Given the description of an element on the screen output the (x, y) to click on. 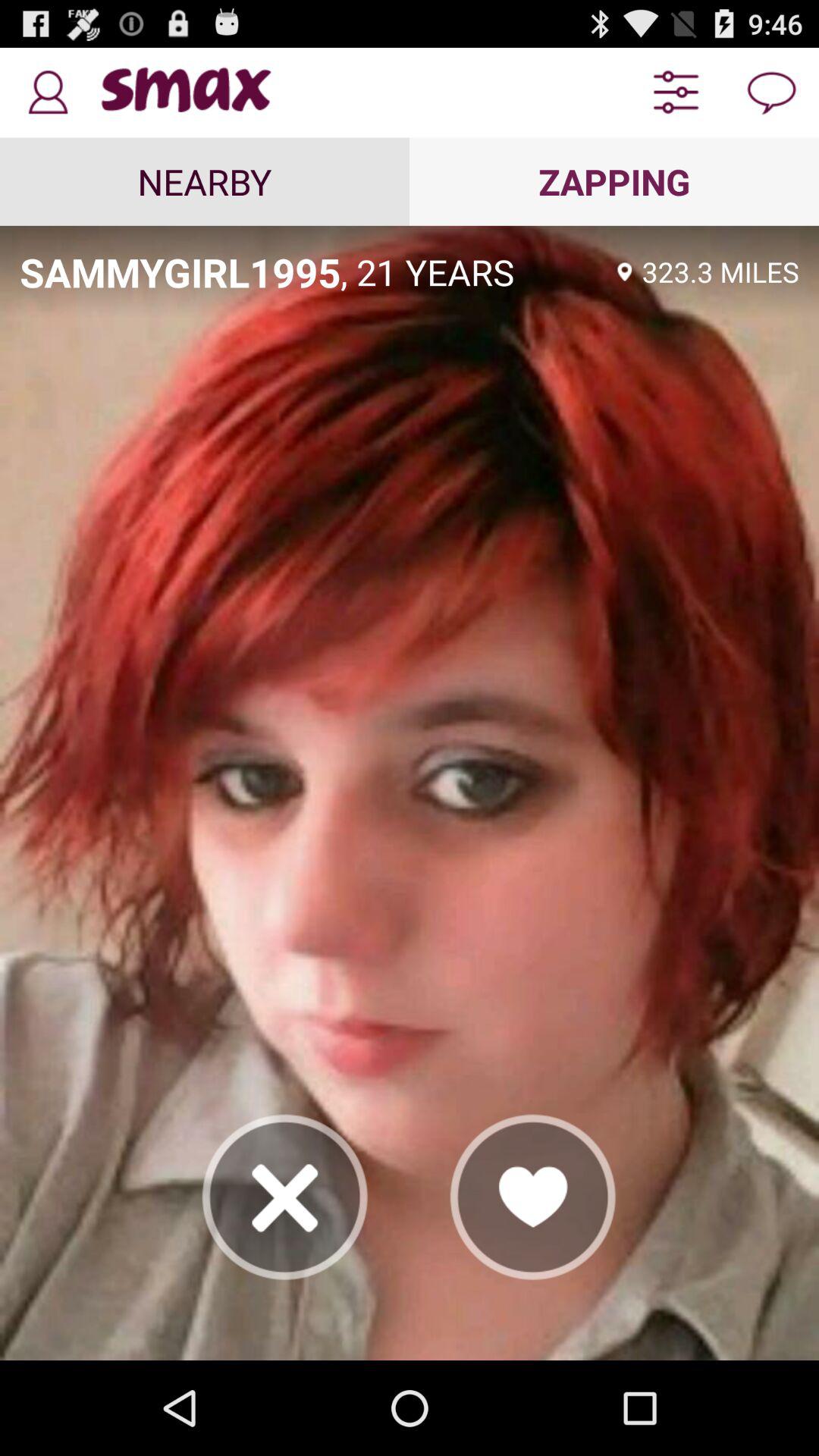
flip to the zapping app (614, 181)
